Given the description of an element on the screen output the (x, y) to click on. 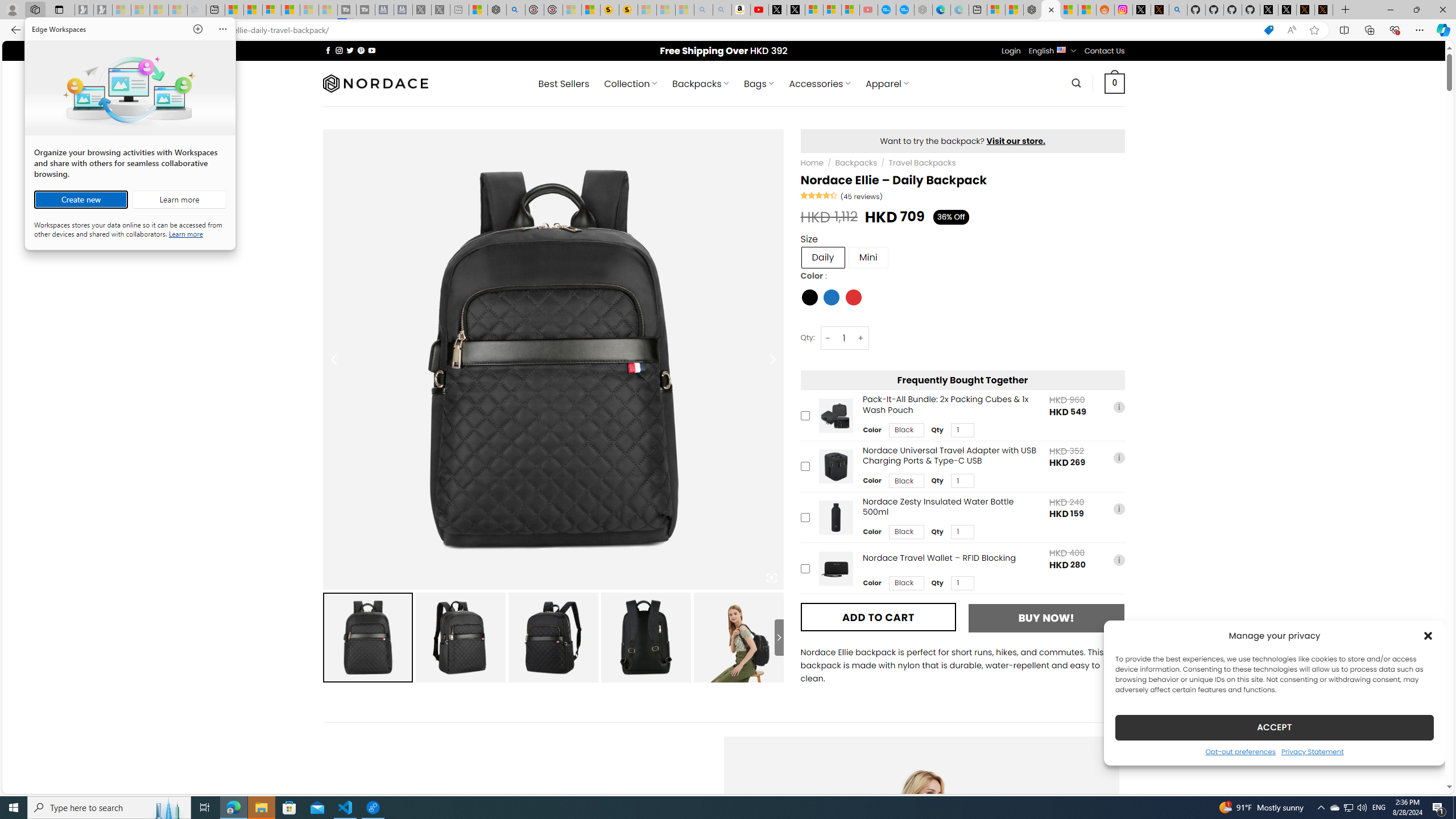
Running applications (706, 807)
Action Center, 1 new notification (1439, 807)
 0  (1115, 83)
Microsoft Store (1333, 807)
Follow on Twitter (289, 807)
 Best Sellers (349, 49)
Notification Chevron (563, 83)
Amazon Echo Dot PNG - Search Images - Sleeping (1320, 807)
Follow on YouTube (721, 9)
